Given the description of an element on the screen output the (x, y) to click on. 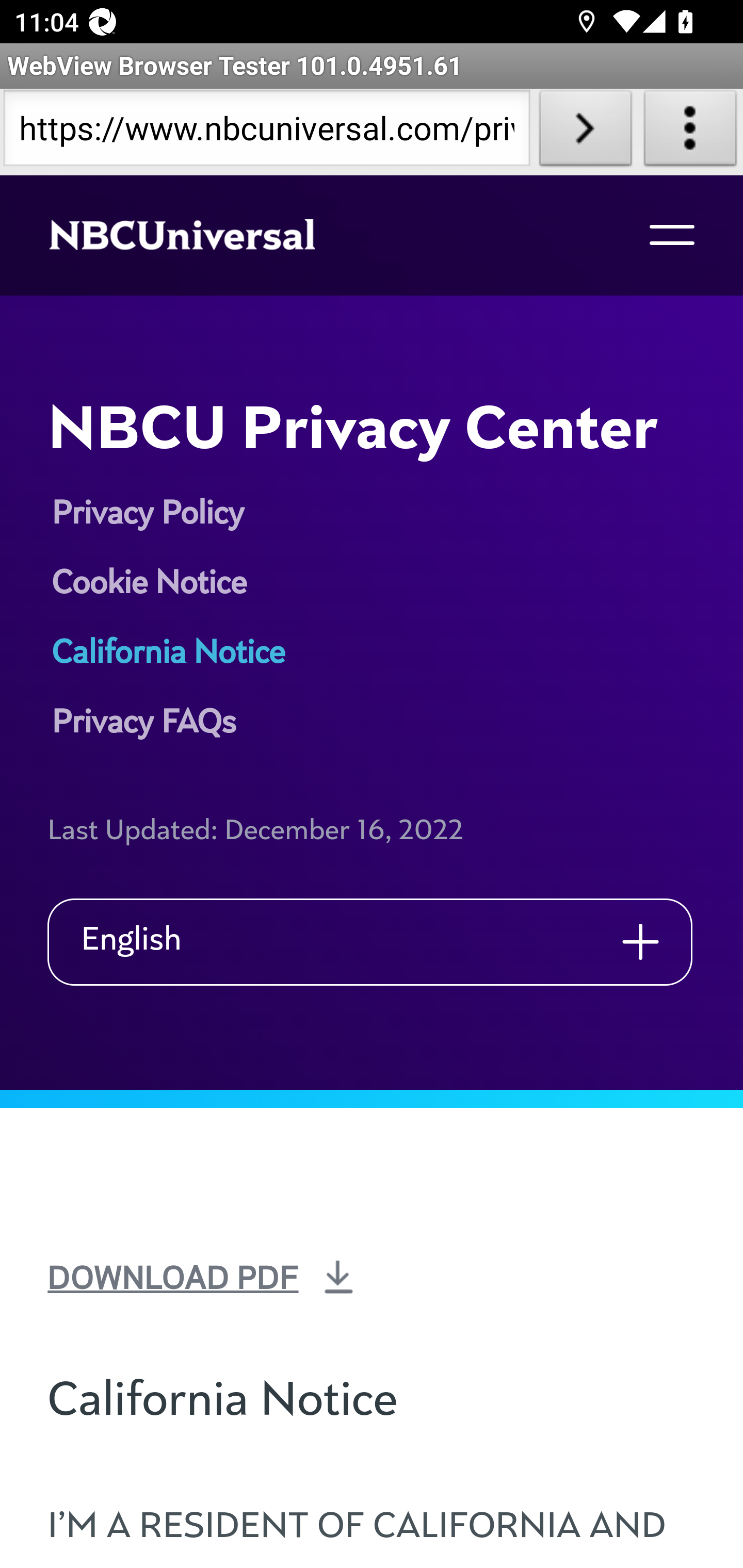
Load URL (585, 132)
About WebView (690, 132)
See more about Home Home (203, 235)
Open Menu (670, 235)
